Given the description of an element on the screen output the (x, y) to click on. 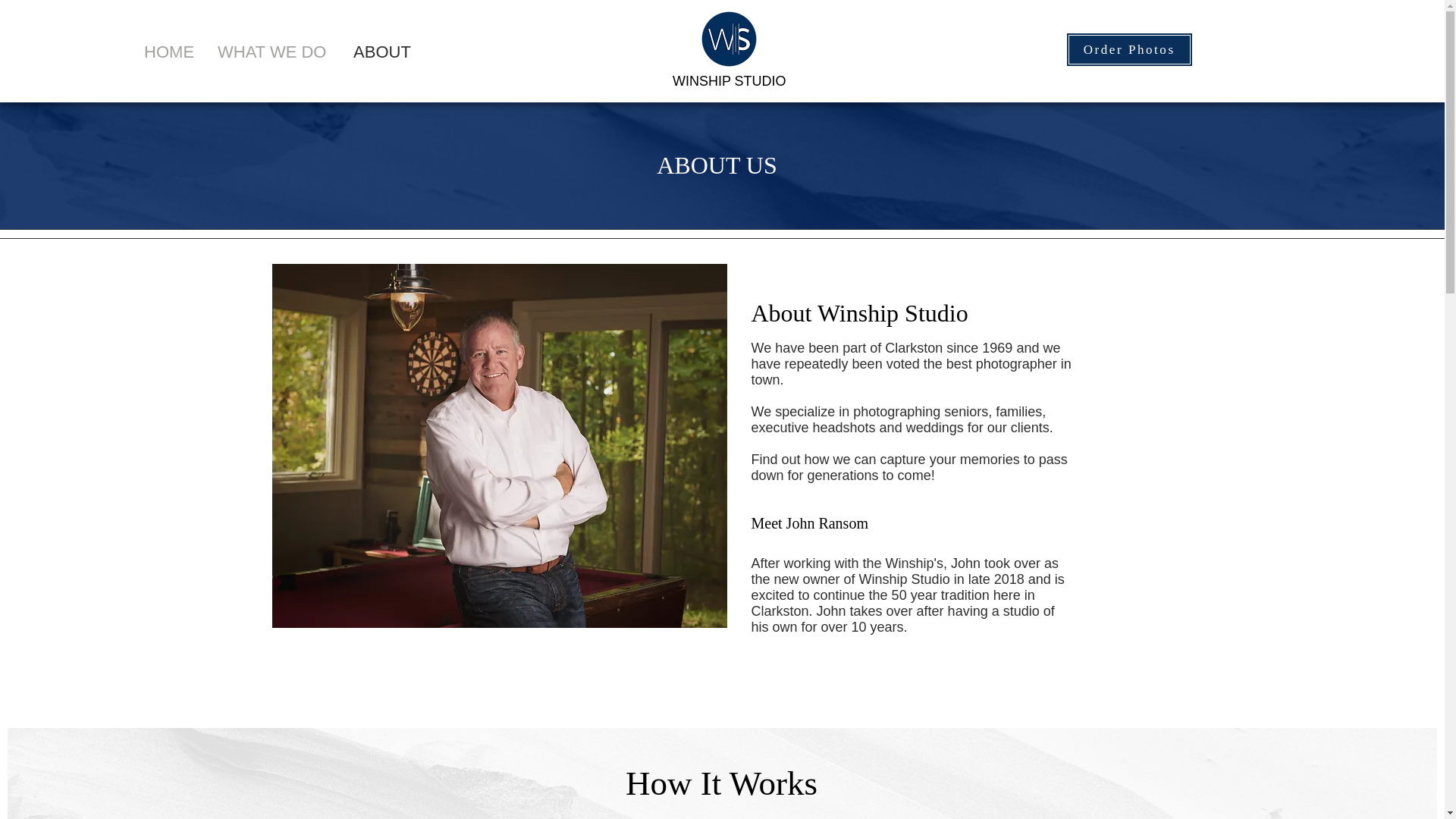
WINSHIP STUDIO (729, 80)
ABOUT (382, 49)
HOME (169, 49)
Order Photos (1128, 49)
